Given the description of an element on the screen output the (x, y) to click on. 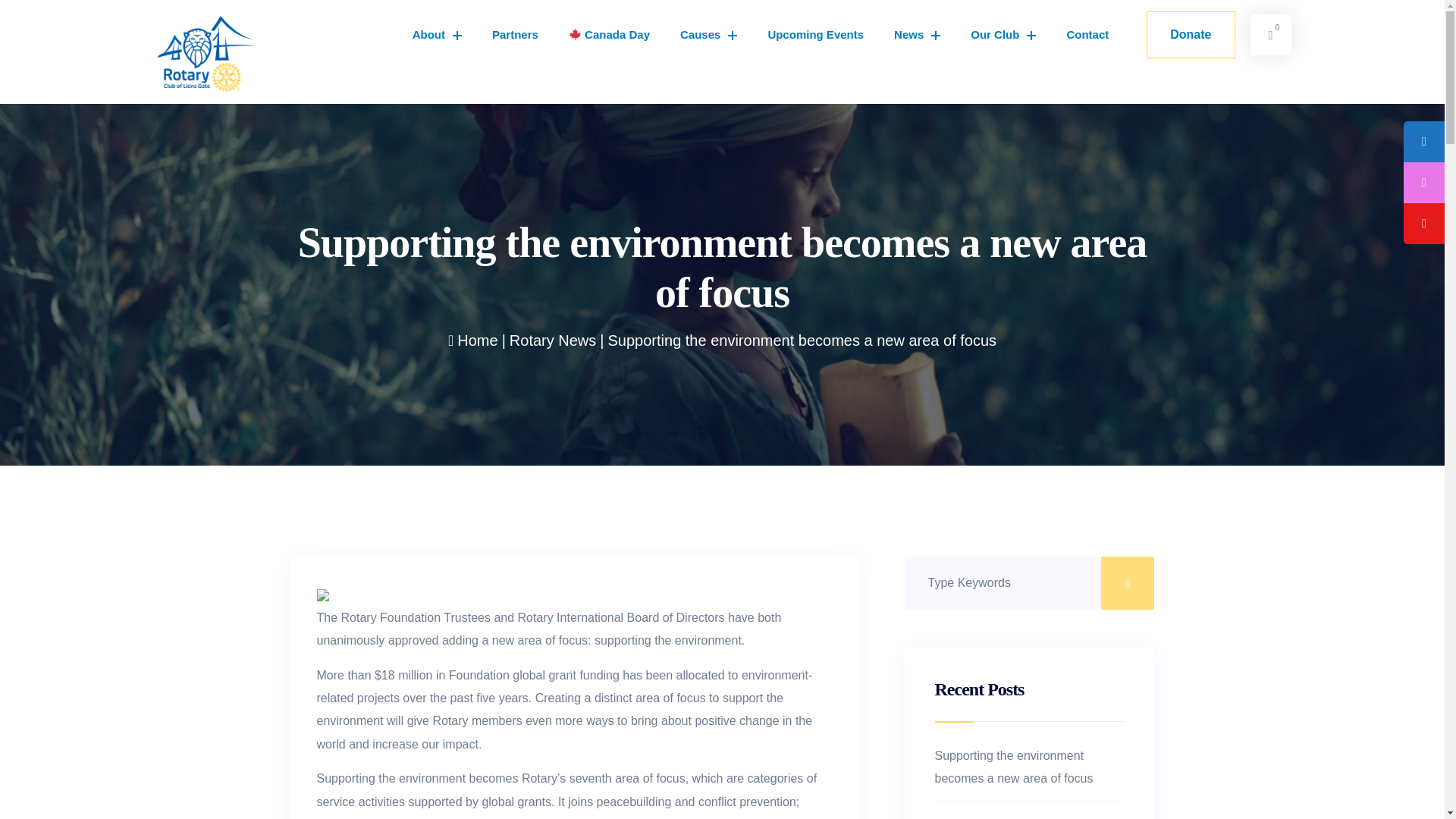
Causes (708, 34)
0 (1269, 34)
Partners (515, 34)
Donate (1190, 34)
Contact (1087, 34)
Canada Day (609, 34)
Our Club (1003, 34)
About (437, 34)
Upcoming Events (815, 34)
News (917, 34)
